Given the description of an element on the screen output the (x, y) to click on. 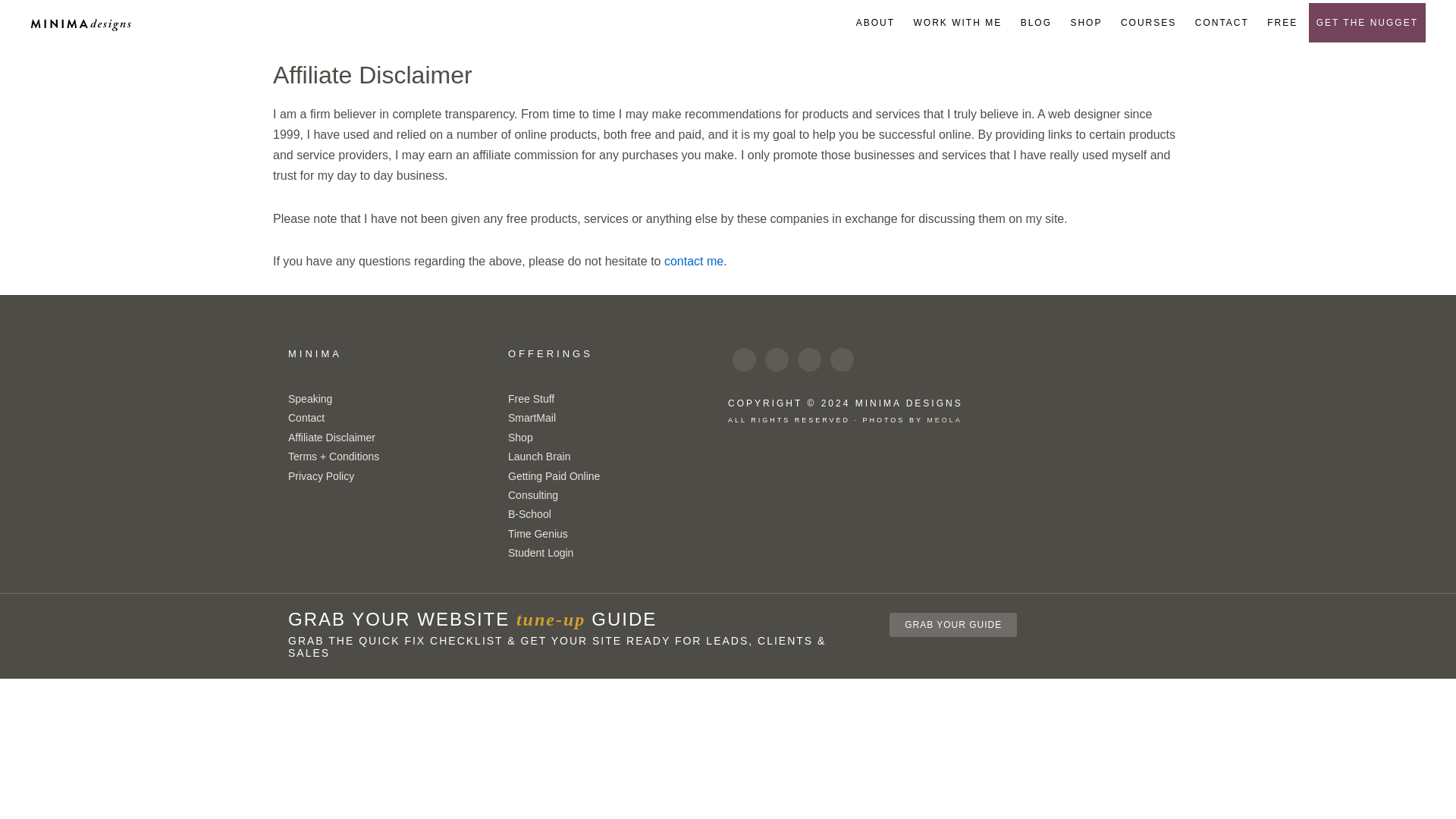
Privacy Policy (320, 476)
SmartMail (532, 417)
WORK WITH ME (957, 22)
Student Login (540, 552)
COURSES (1148, 22)
CONTACT (1222, 22)
GET THE NUGGET (1366, 22)
BLOG (1036, 22)
Free Stuff (531, 398)
SHOP (1085, 22)
MEOLA (944, 420)
B-School (529, 513)
ABOUT (875, 22)
Launch Brain (539, 456)
